Given the description of an element on the screen output the (x, y) to click on. 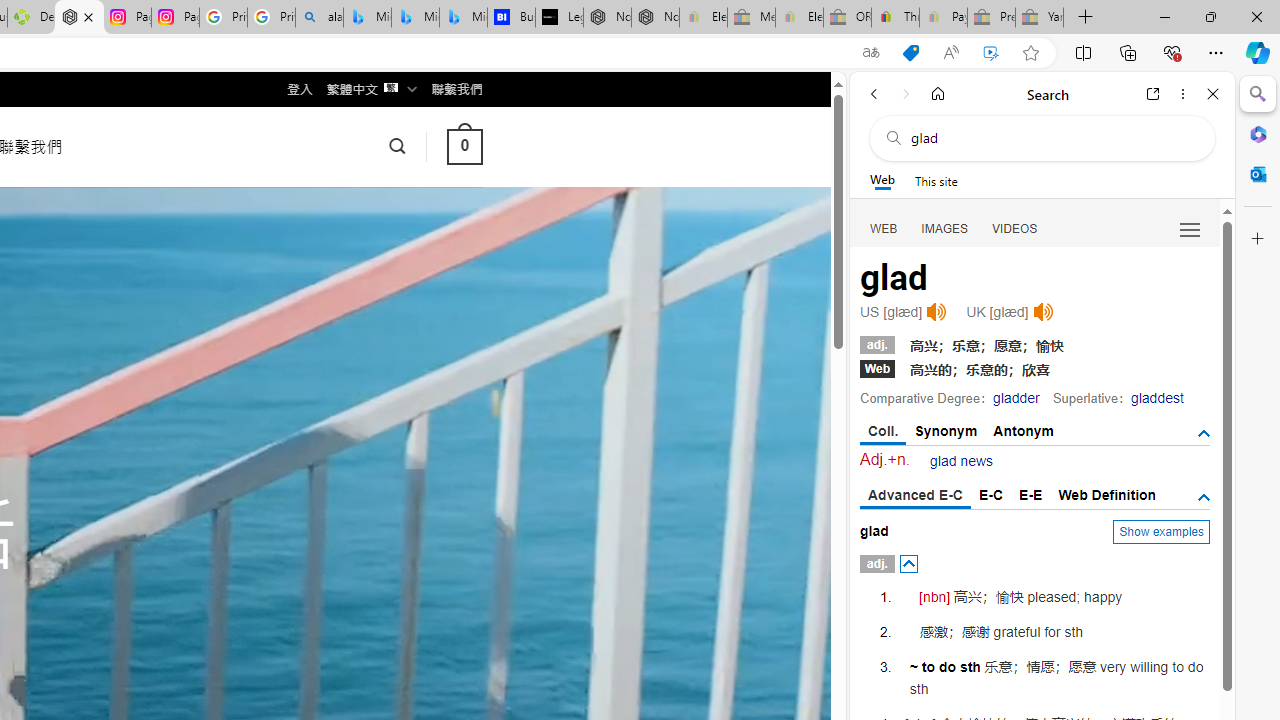
Open link in new tab (1153, 93)
Search Filter, VIDEOS (1015, 228)
Web scope (882, 180)
Search (1258, 94)
Click to listen (1042, 312)
This site has coupons! Shopping in Microsoft Edge (910, 53)
Microsoft 365 (1258, 133)
AutomationID: tgsb (1203, 433)
Threats and offensive language policy | eBay (895, 17)
Yard, Garden & Outdoor Living - Sleeping (1039, 17)
VIDEOS (1015, 228)
